Given the description of an element on the screen output the (x, y) to click on. 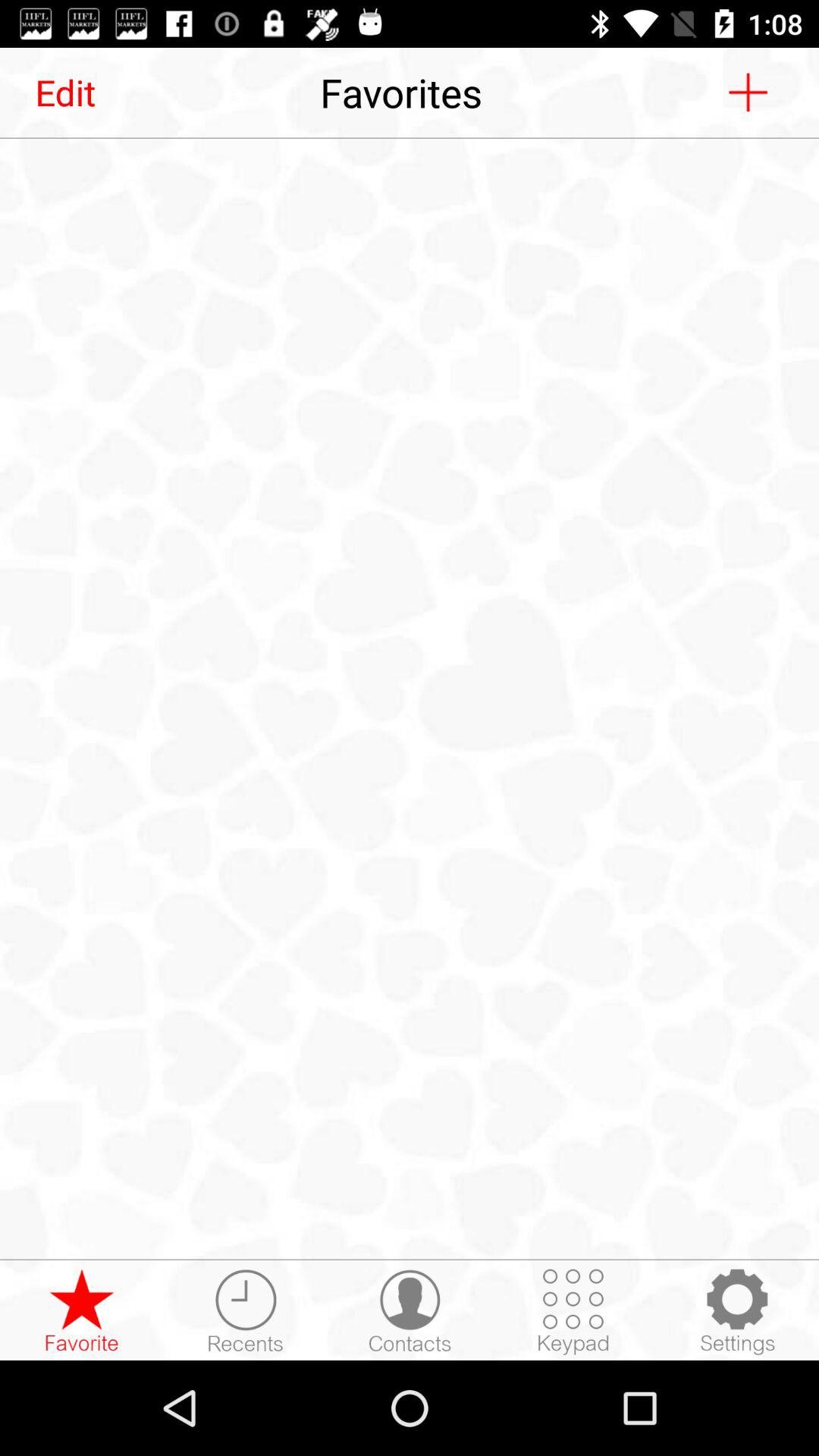
settings (737, 1311)
